Given the description of an element on the screen output the (x, y) to click on. 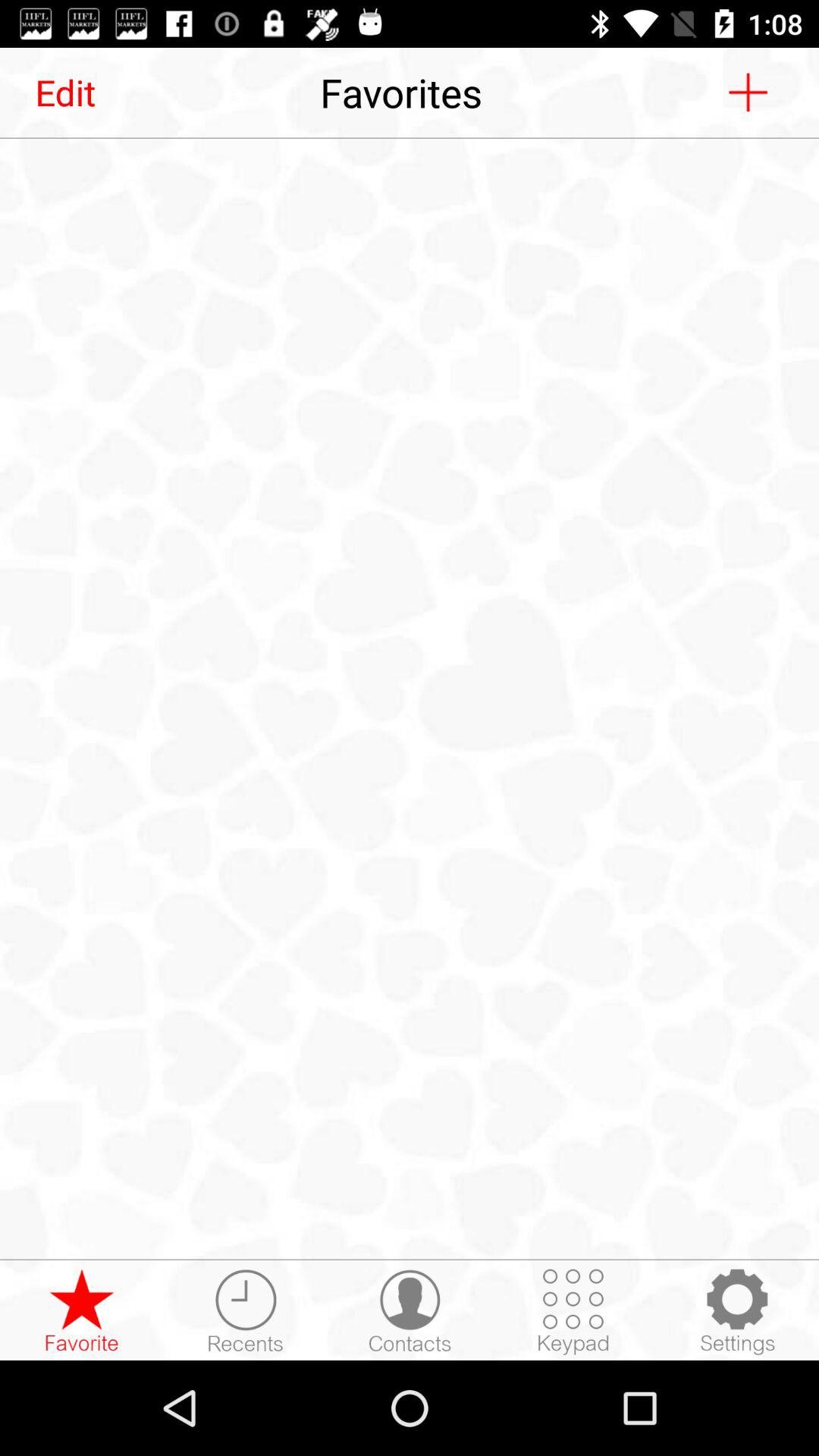
settings (737, 1311)
